Given the description of an element on the screen output the (x, y) to click on. 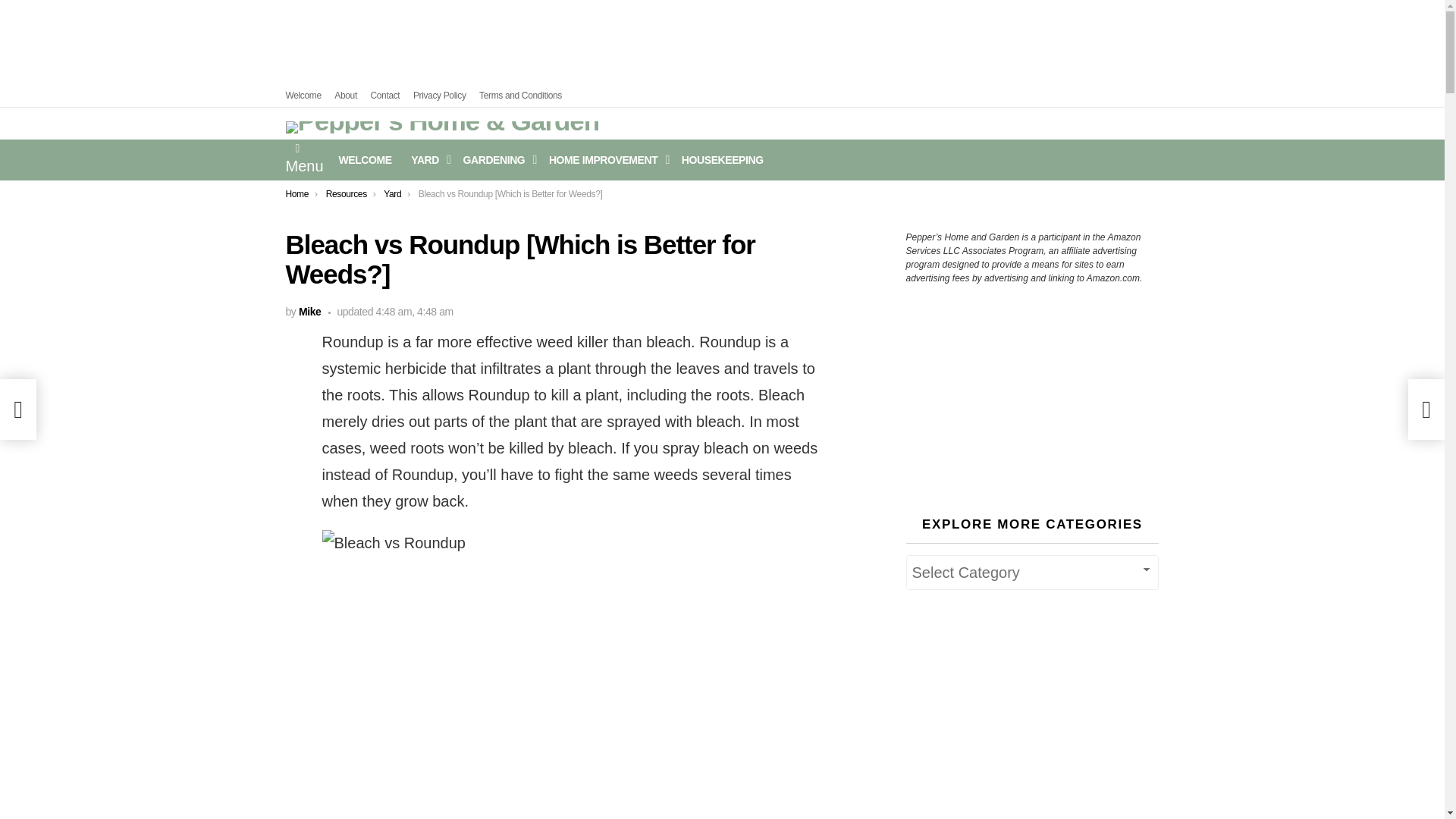
Contact (383, 95)
GARDENING (496, 159)
Terms and Conditions (520, 95)
Menu (304, 159)
About (345, 95)
WELCOME (364, 159)
YARD (427, 159)
Privacy Policy (439, 95)
Welcome (302, 95)
Posts by Mike (309, 311)
